Given the description of an element on the screen output the (x, y) to click on. 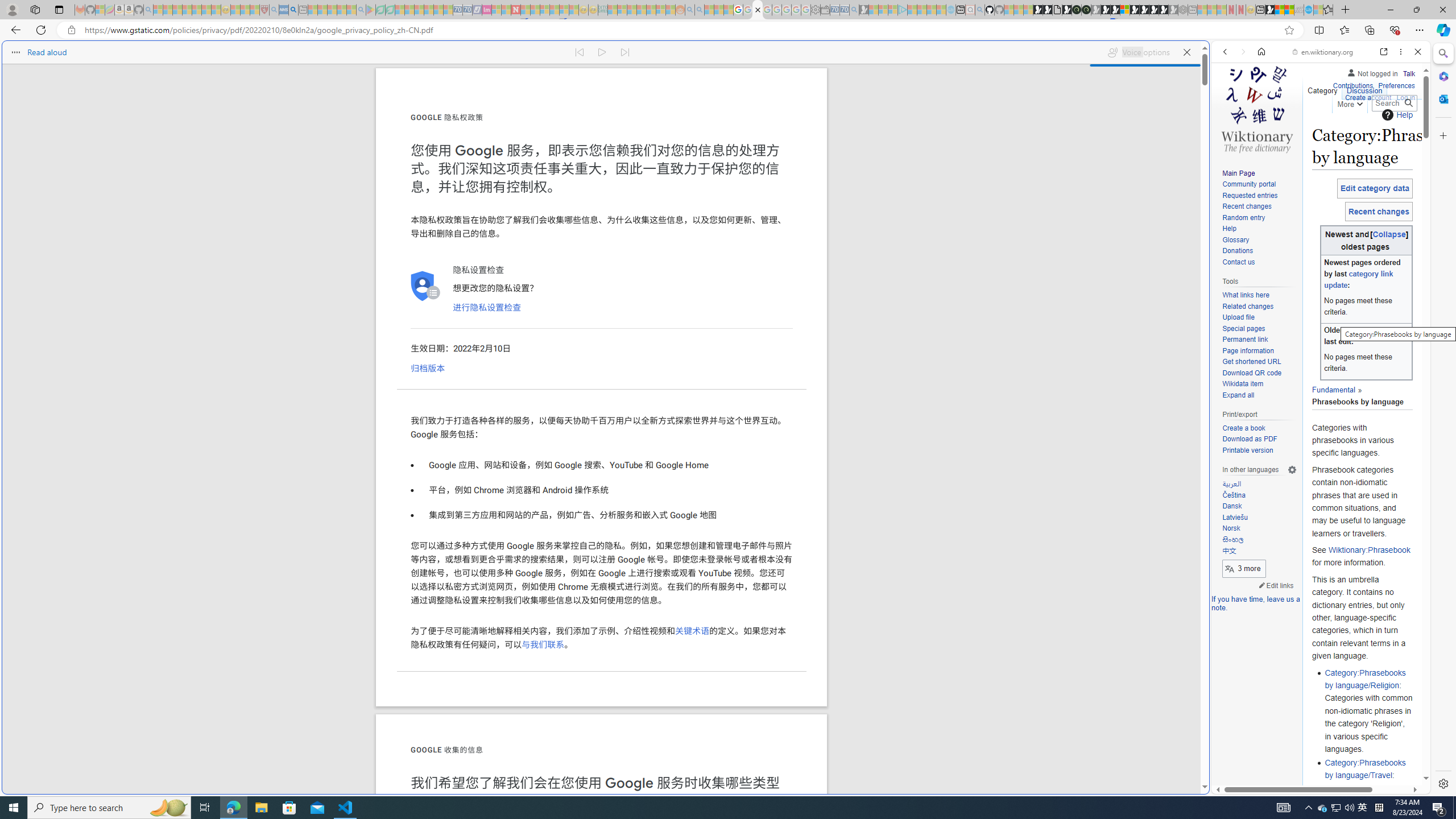
Community portal (1259, 184)
Wikidata item (1259, 383)
